Given the description of an element on the screen output the (x, y) to click on. 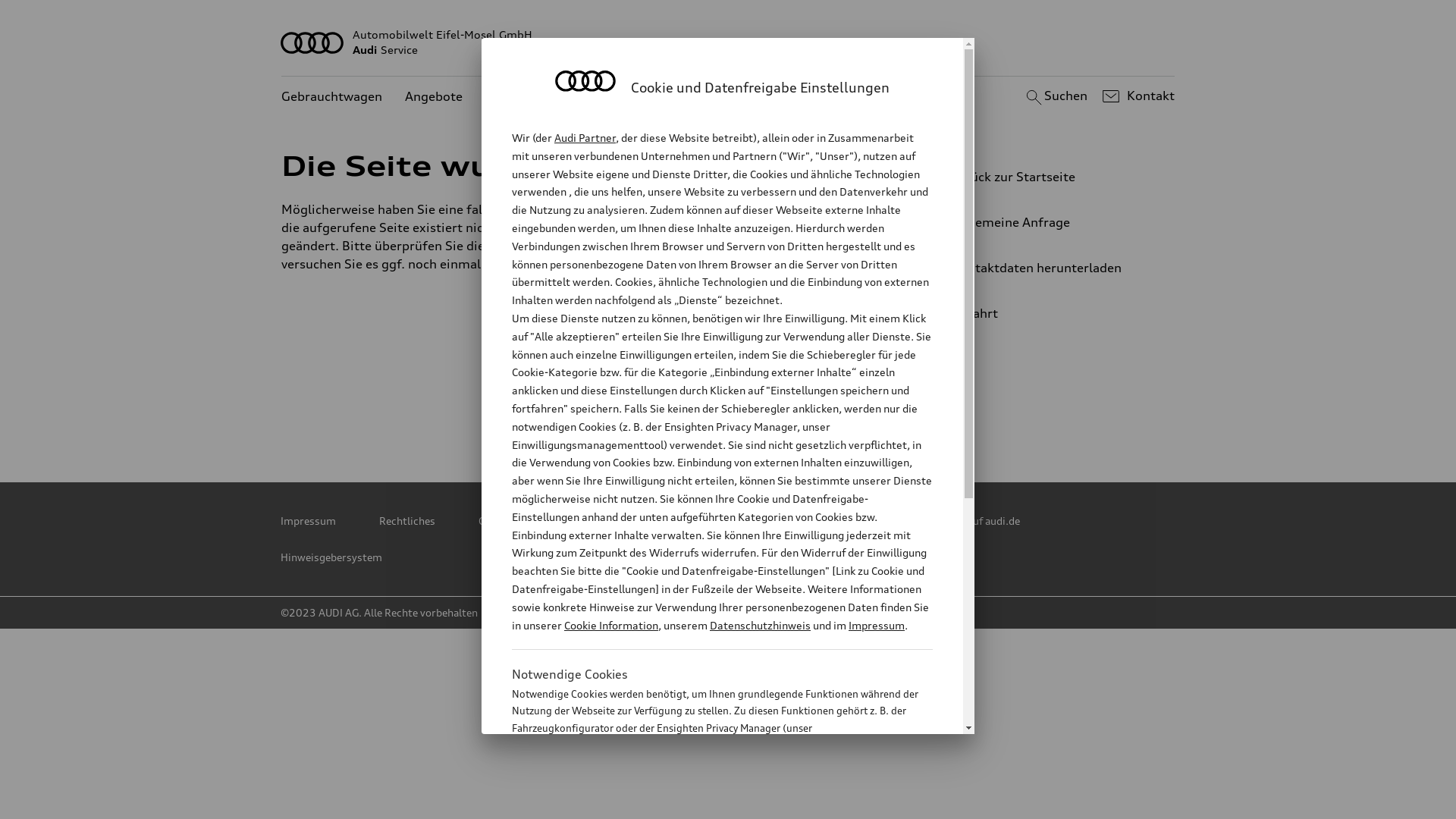
Rechtliches Element type: text (407, 520)
Konfigurieren auf audi.de Element type: text (958, 520)
Cookie Policy Element type: text (509, 520)
Kundenservice Element type: text (528, 96)
YouTube Element type: hover (796, 410)
Cookie Information Element type: text (611, 624)
Instagram Element type: hover (863, 410)
Twitter Element type: hover (596, 410)
Datenschutzhinweis Element type: text (759, 624)
Automobilwelt Eifel-Mosel GmbH
AudiService Element type: text (727, 42)
Allgemeine Anfrage Element type: text (1043, 222)
Audi.de Element type: text (837, 520)
Kontaktdaten herunterladen Element type: text (1043, 267)
Pinterest Element type: hover (663, 410)
Facebook Element type: hover (730, 410)
Anfahrt Element type: text (1049, 313)
Gebrauchtwagen Element type: text (331, 96)
Suchen Element type: text (1054, 96)
Impressum Element type: text (307, 520)
Audi Partner Element type: text (584, 137)
Cookie und Datenfreigabe Einstellungen Element type: text (679, 520)
Cookie Information Element type: text (705, 802)
Kontakt Element type: text (1135, 96)
Angebote Element type: text (433, 96)
Hinweisgebersystem Element type: text (331, 557)
Impressum Element type: text (876, 624)
